Given the description of an element on the screen output the (x, y) to click on. 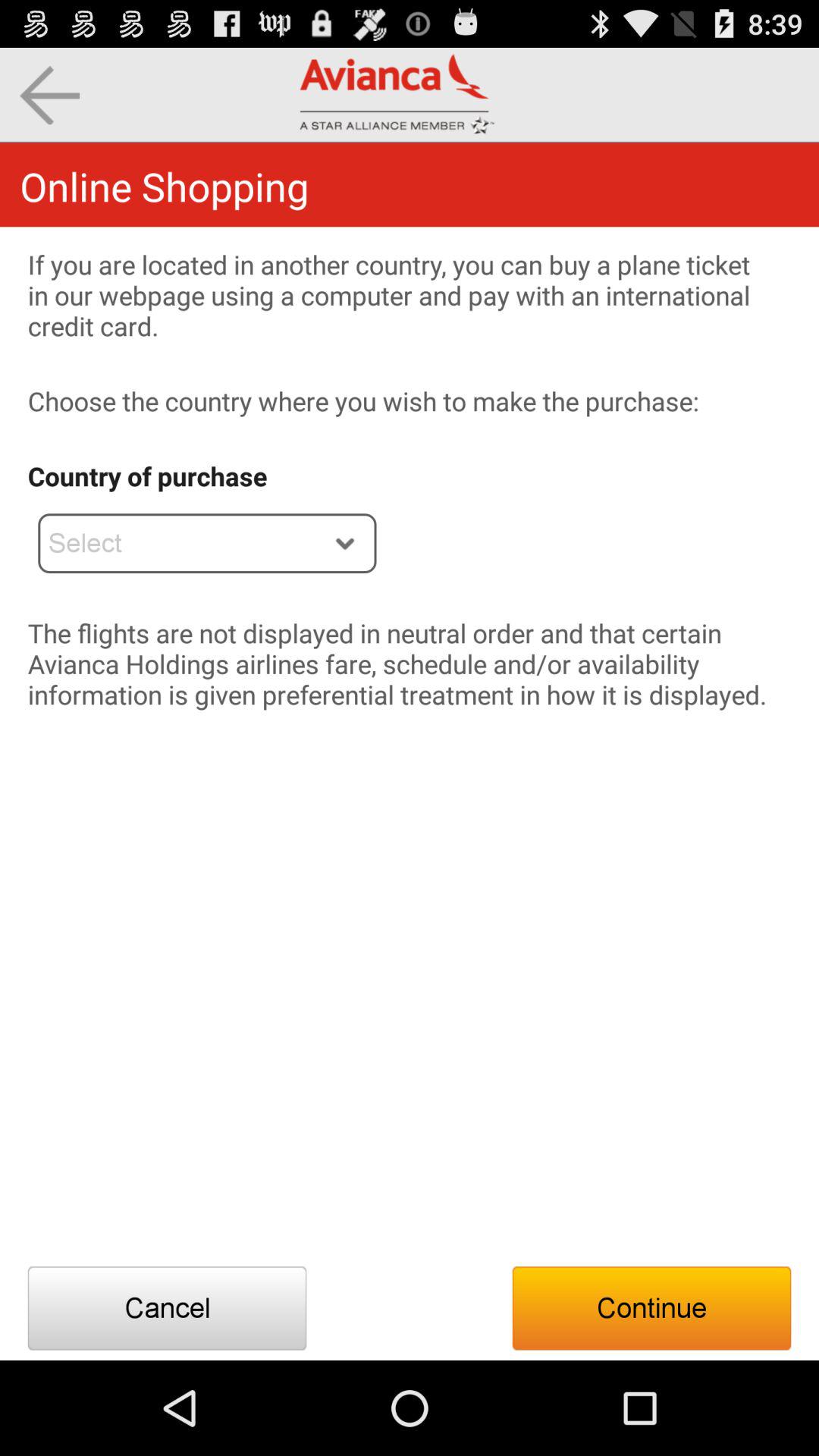
select button to the left of the continue item (166, 1308)
